Given the description of an element on the screen output the (x, y) to click on. 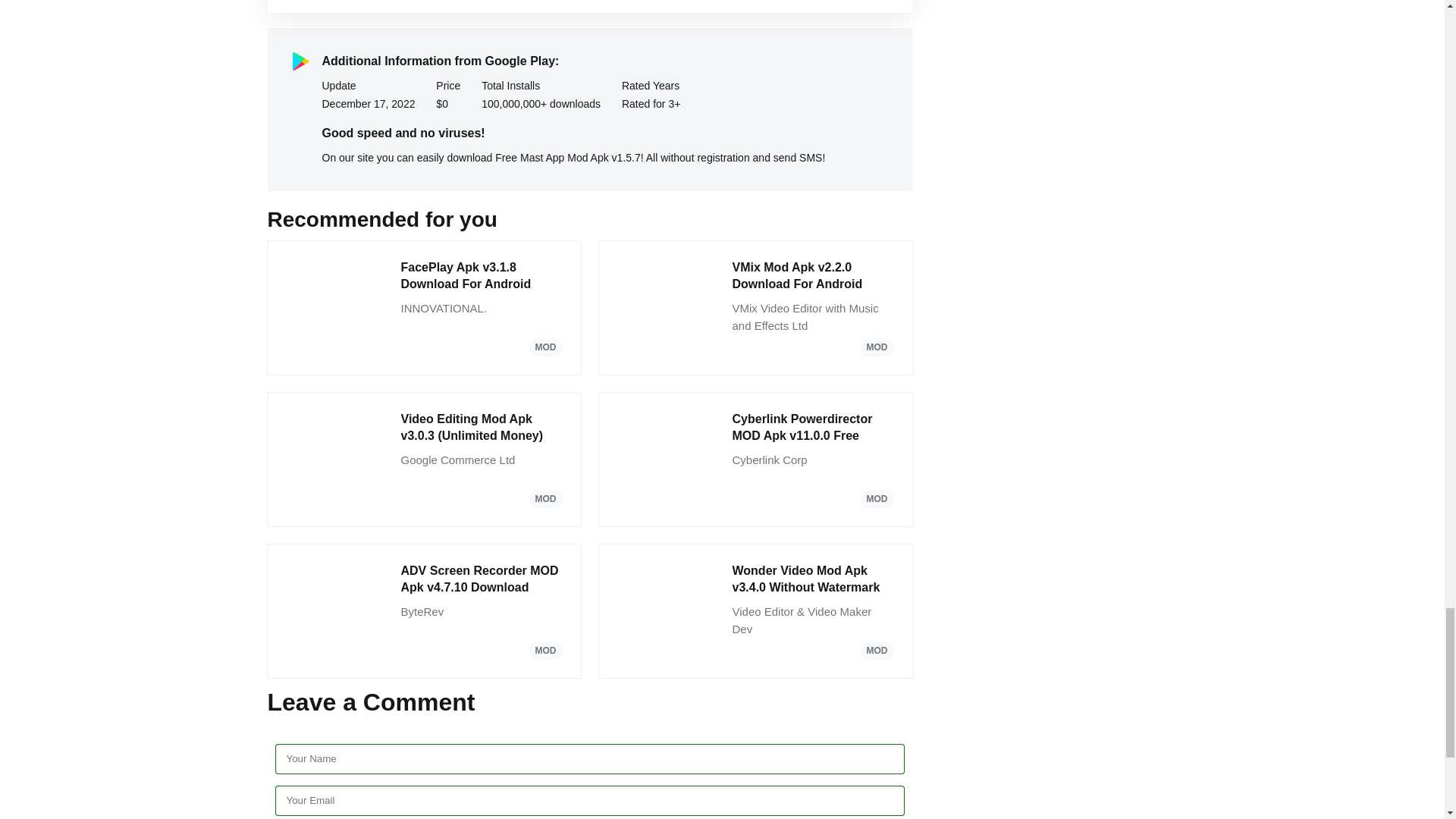
VMix Mod Apk v2.2.0 Download For Android (812, 276)
FacePlay Apk v3.1.8 Download For Android (481, 276)
FacePlay Apk V3.1.8 Download For Android (481, 276)
VMix Mod Apk V2.2.0 Download For Android (812, 276)
ADV Screen Recorder MOD Apk v4.7.10 Download (481, 579)
Wonder Video Mod Apk V3.4.0 Without Watermark (812, 579)
ADV Screen Recorder MOD Apk V4.7.10 Download (481, 579)
Wonder Video Mod Apk v3.4.0 Without Watermark (812, 579)
Cyberlink Powerdirector MOD Apk v11.0.0 Free Download (812, 428)
Cyberlink Powerdirector MOD Apk V11.0.0 Free Download (812, 428)
